Given the description of an element on the screen output the (x, y) to click on. 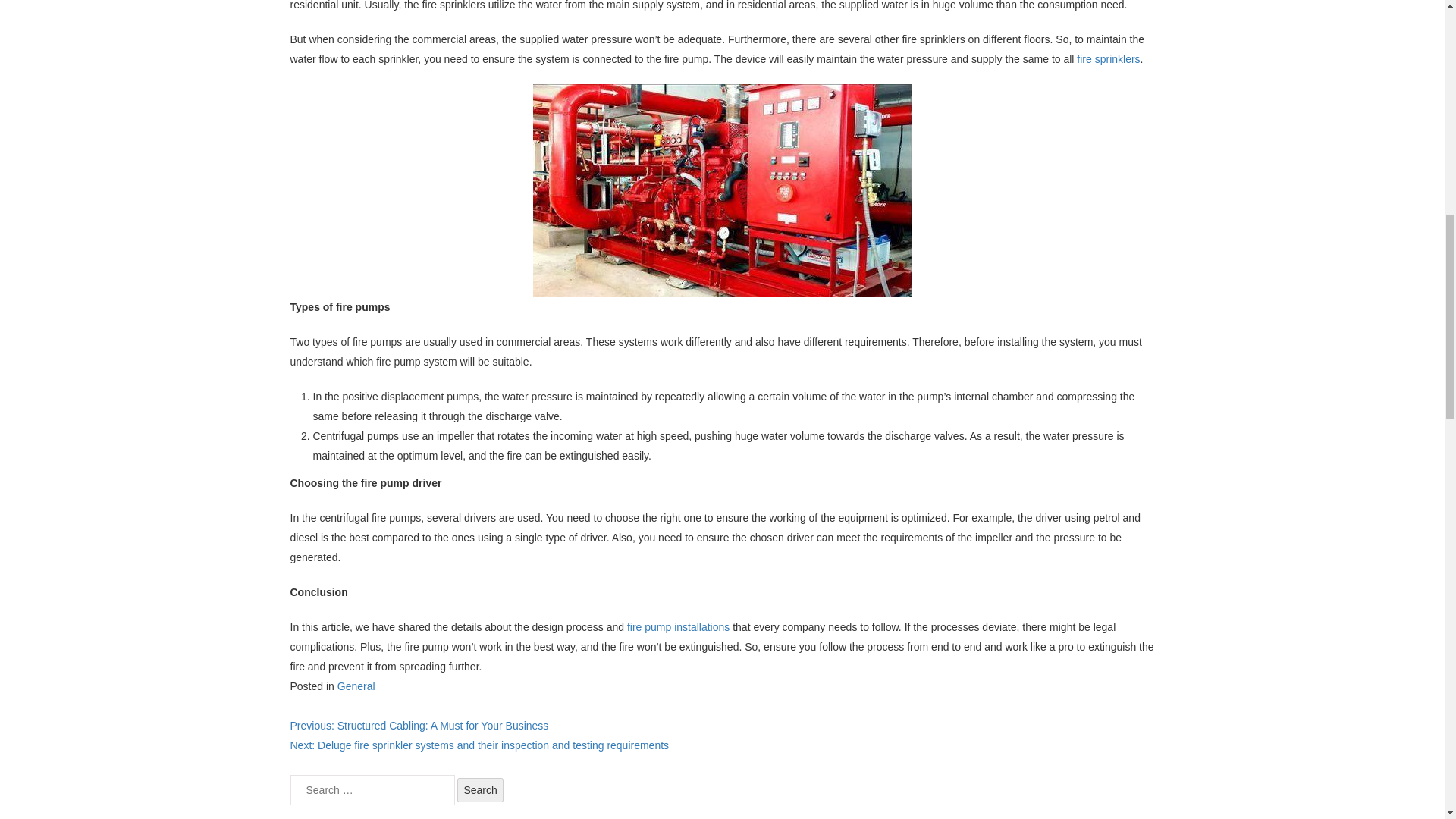
Search (479, 790)
Previous: Structured Cabling: A Must for Your Business (418, 725)
Search (479, 790)
fire sprinklers (1108, 59)
General (356, 686)
fire pump installations (678, 626)
